Given the description of an element on the screen output the (x, y) to click on. 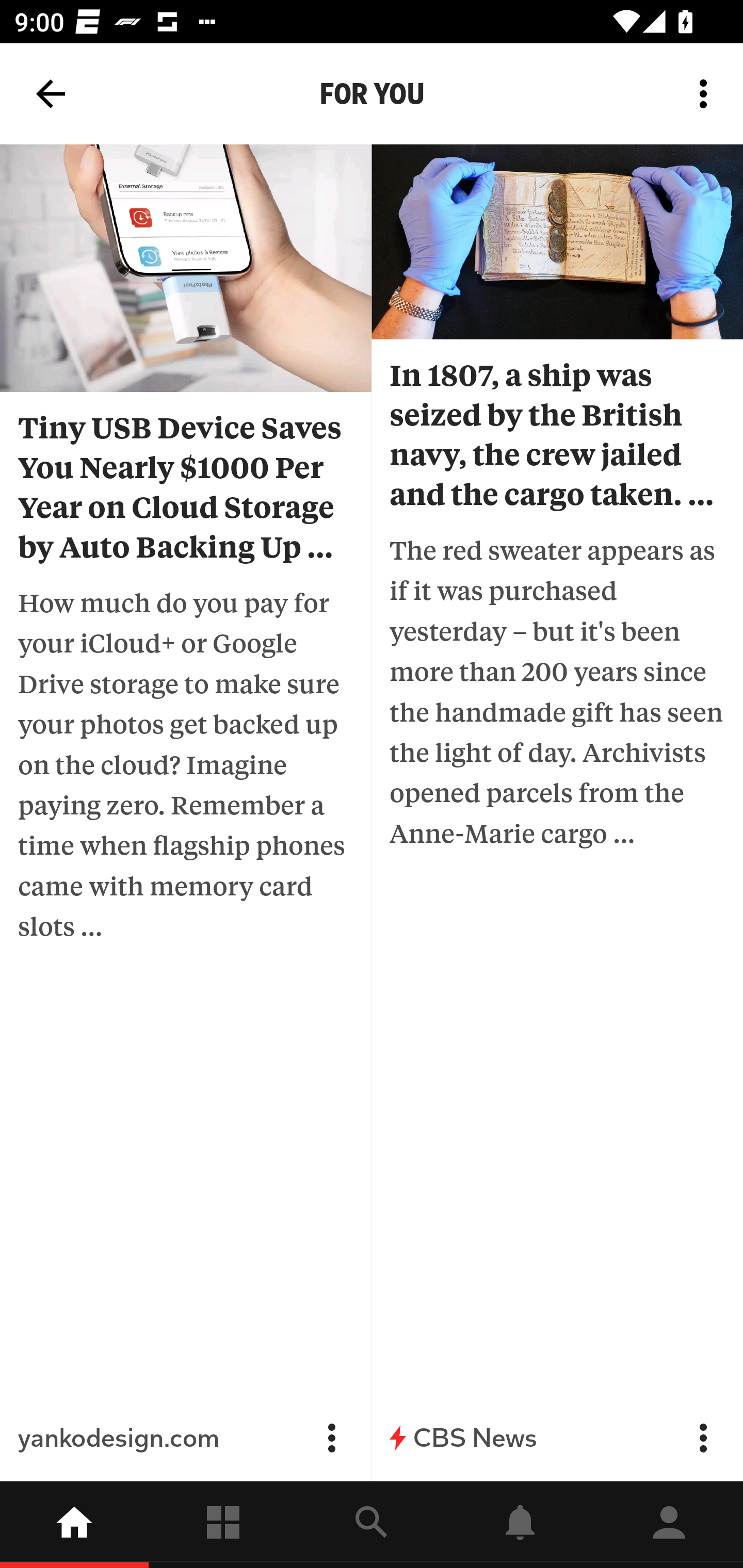
Back (50, 93)
FOR YOU (371, 93)
More options (706, 93)
yankodesign.com Flip into Magazine (185, 1437)
CBS News Flip into Magazine (557, 1437)
Flip into Magazine (331, 1437)
Flip into Magazine (703, 1437)
home (74, 1524)
Following (222, 1524)
explore (371, 1524)
Notifications (519, 1524)
Profile (668, 1524)
